Given the description of an element on the screen output the (x, y) to click on. 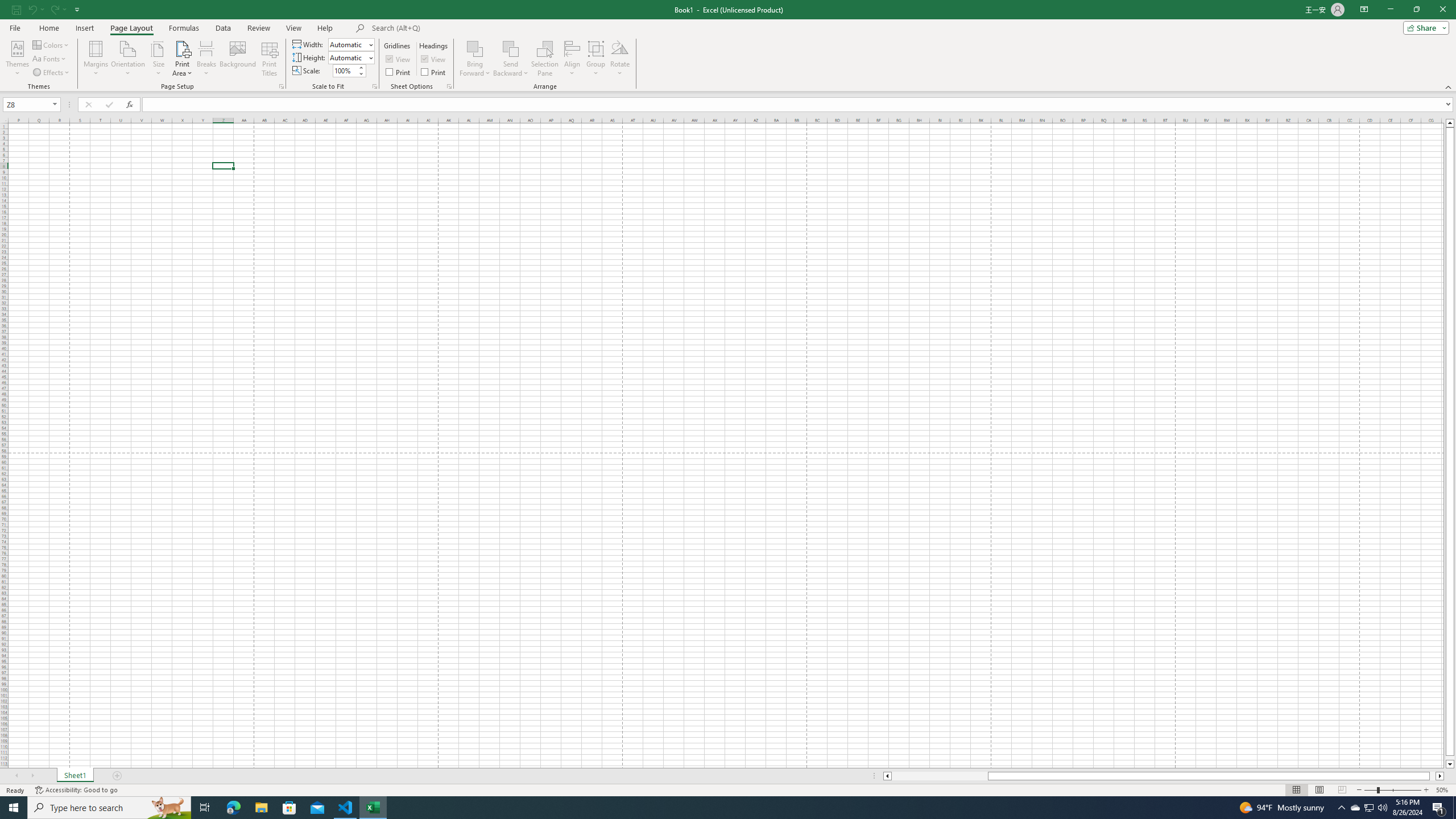
Width (347, 44)
Effects (51, 72)
Restore Down (1416, 9)
Send Backward (510, 48)
Rotate (619, 58)
Width (350, 44)
Sheet1 (74, 775)
Selection Pane... (544, 58)
File Tab (15, 27)
Scroll Left (16, 775)
